Given the description of an element on the screen output the (x, y) to click on. 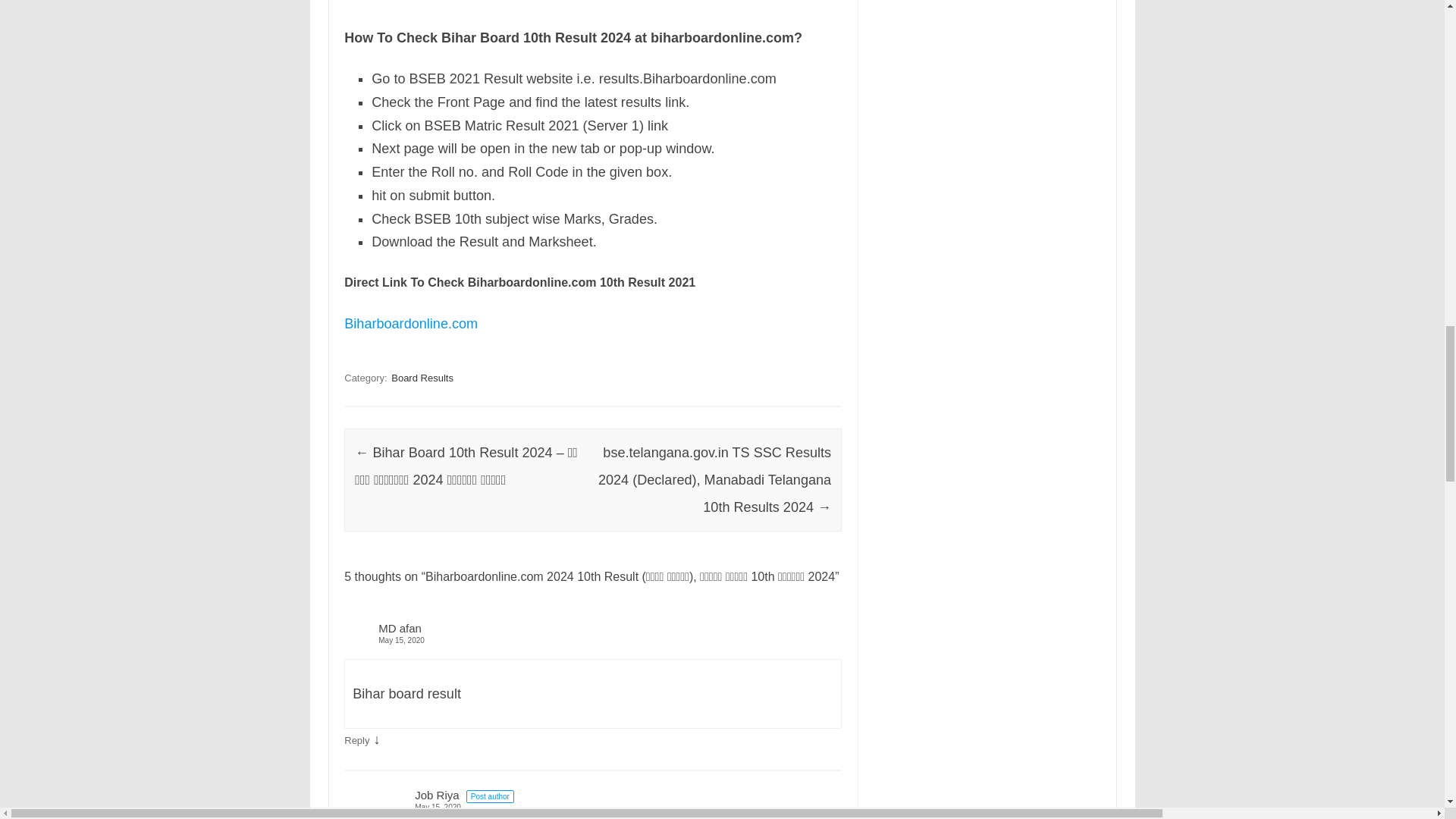
May 15, 2020 (592, 640)
Reply (356, 740)
Job Riya (436, 794)
Biharboardonline.com (410, 323)
Board Results (422, 377)
May 15, 2020 (610, 807)
